Given the description of an element on the screen output the (x, y) to click on. 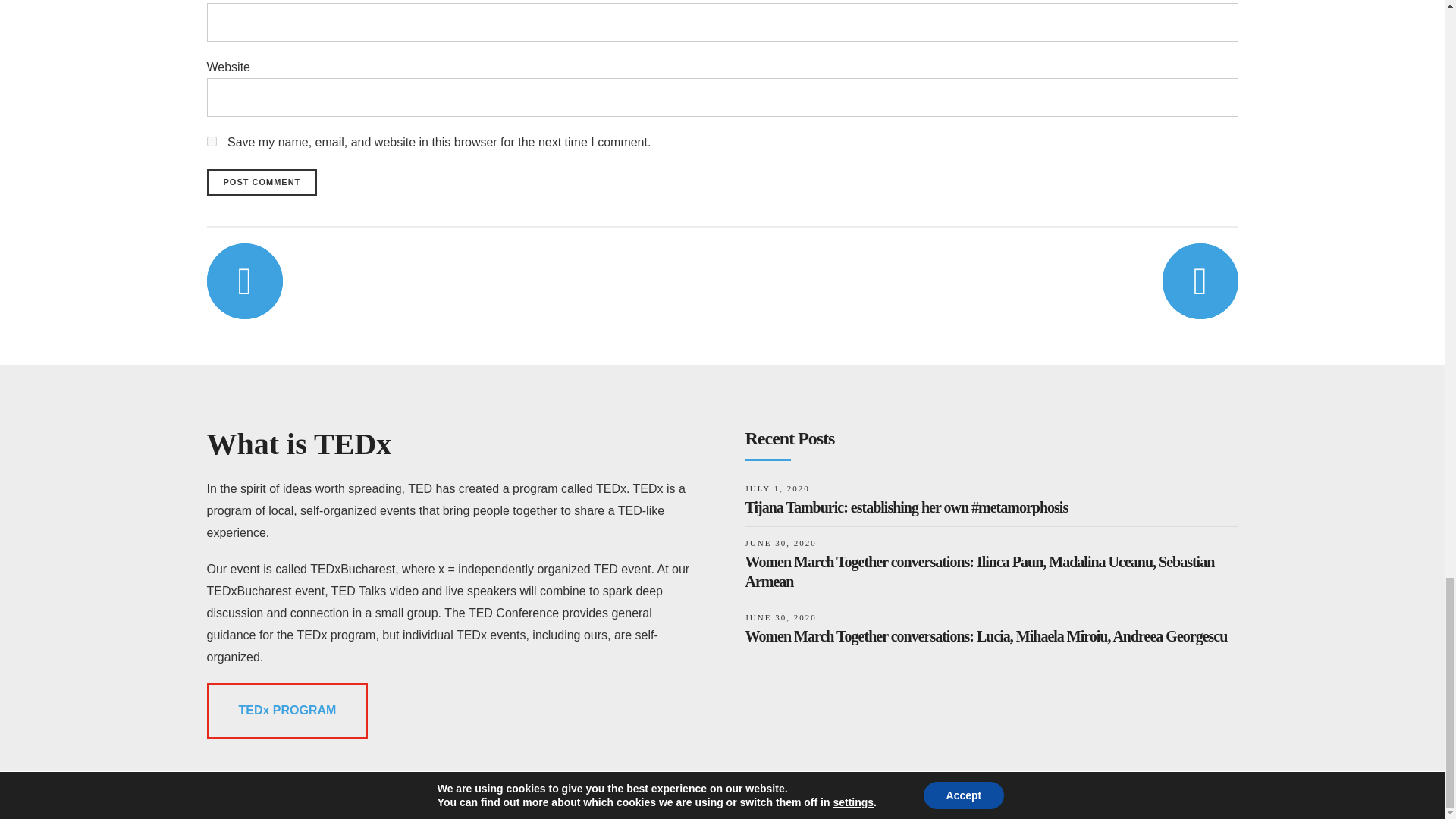
yes (210, 141)
TEDx PROGRAM (287, 710)
POST COMMENT (261, 181)
